Given the description of an element on the screen output the (x, y) to click on. 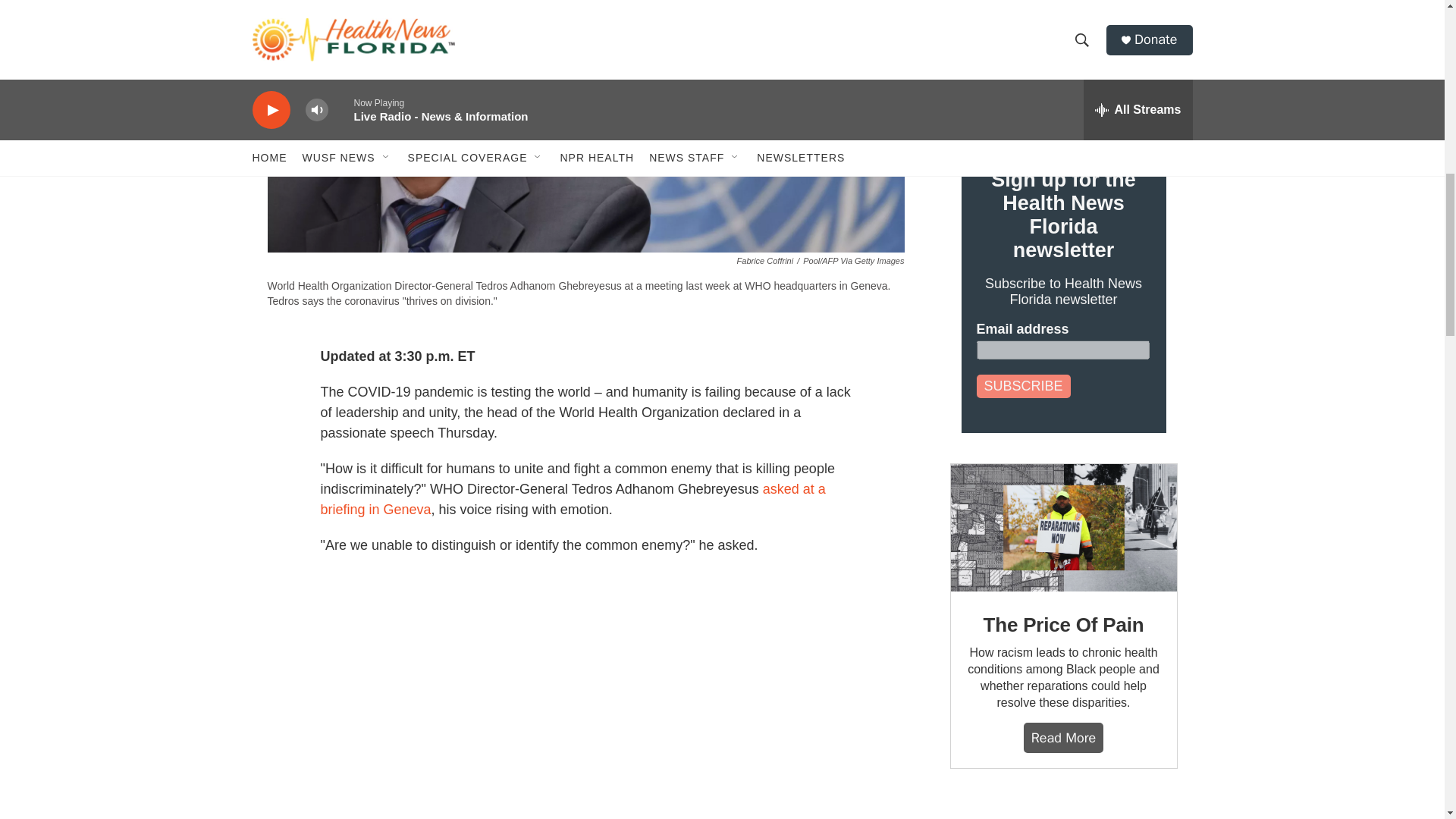
3rd party ad content (1062, 809)
